Given the description of an element on the screen output the (x, y) to click on. 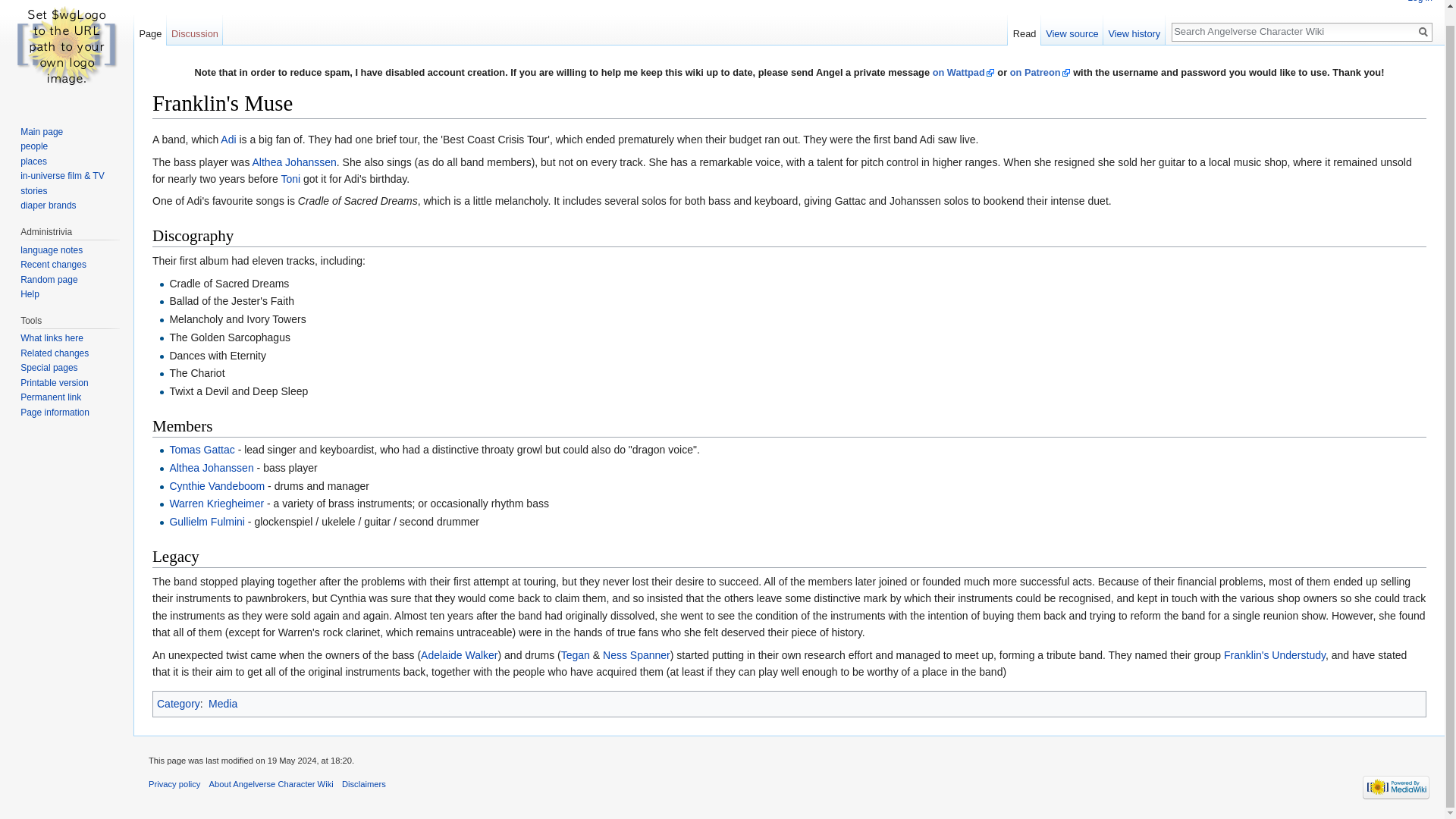
Category (178, 703)
Random page (48, 279)
Cynthie Vandeboom (216, 485)
Help (29, 294)
Special:Categories (178, 703)
Warren Kriegheimer (215, 503)
Tomas Gattac (201, 449)
Main page (41, 131)
Recent changes (52, 264)
Toni (290, 178)
